Given the description of an element on the screen output the (x, y) to click on. 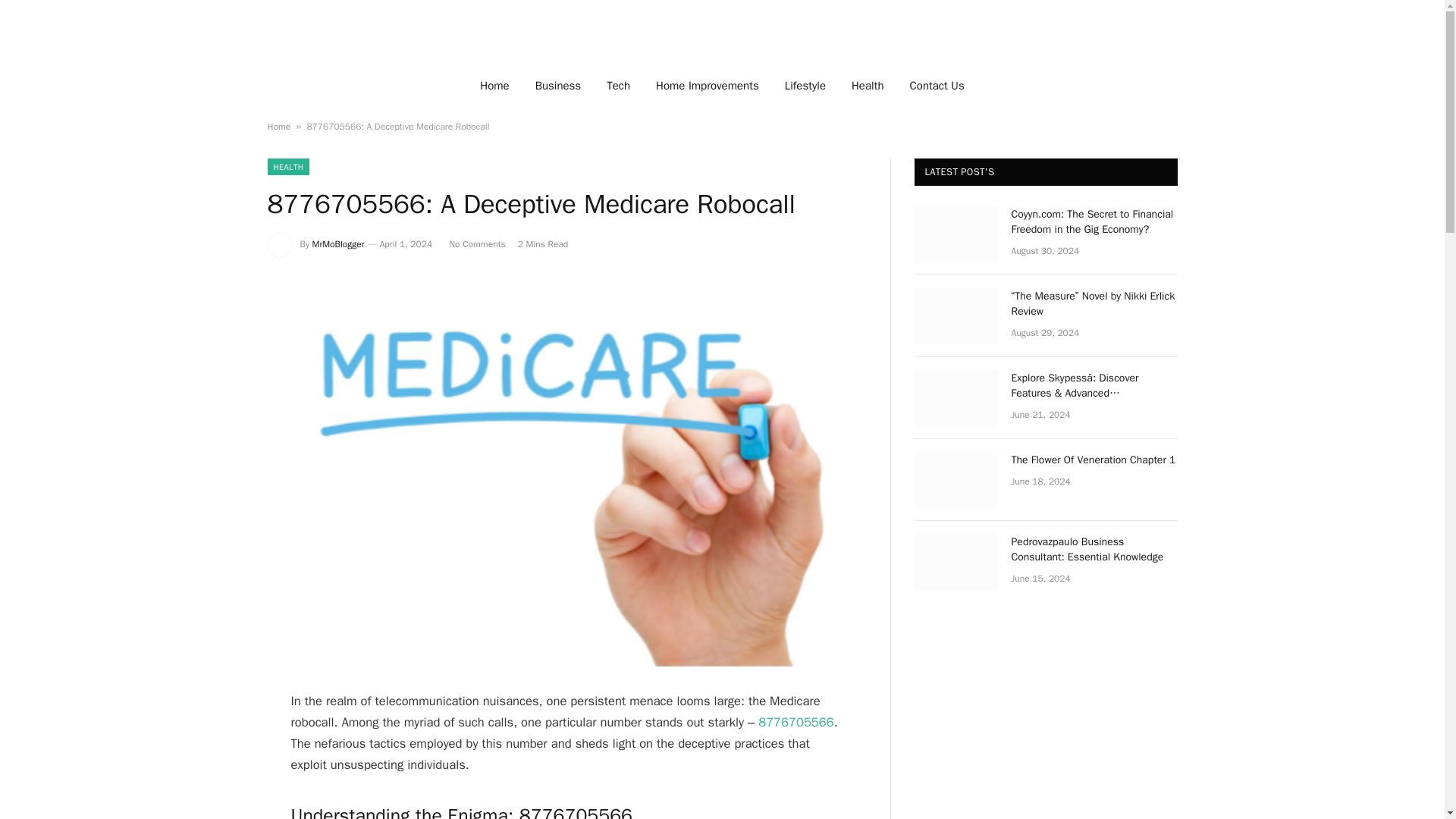
Business (558, 85)
MrMoBlogger (339, 244)
Health (867, 85)
Tech (618, 85)
Contact Us (936, 85)
The Flower Of Veneration Chapter 1 (1094, 459)
No Comments (475, 244)
8776705566 (793, 722)
Home (494, 85)
